Given the description of an element on the screen output the (x, y) to click on. 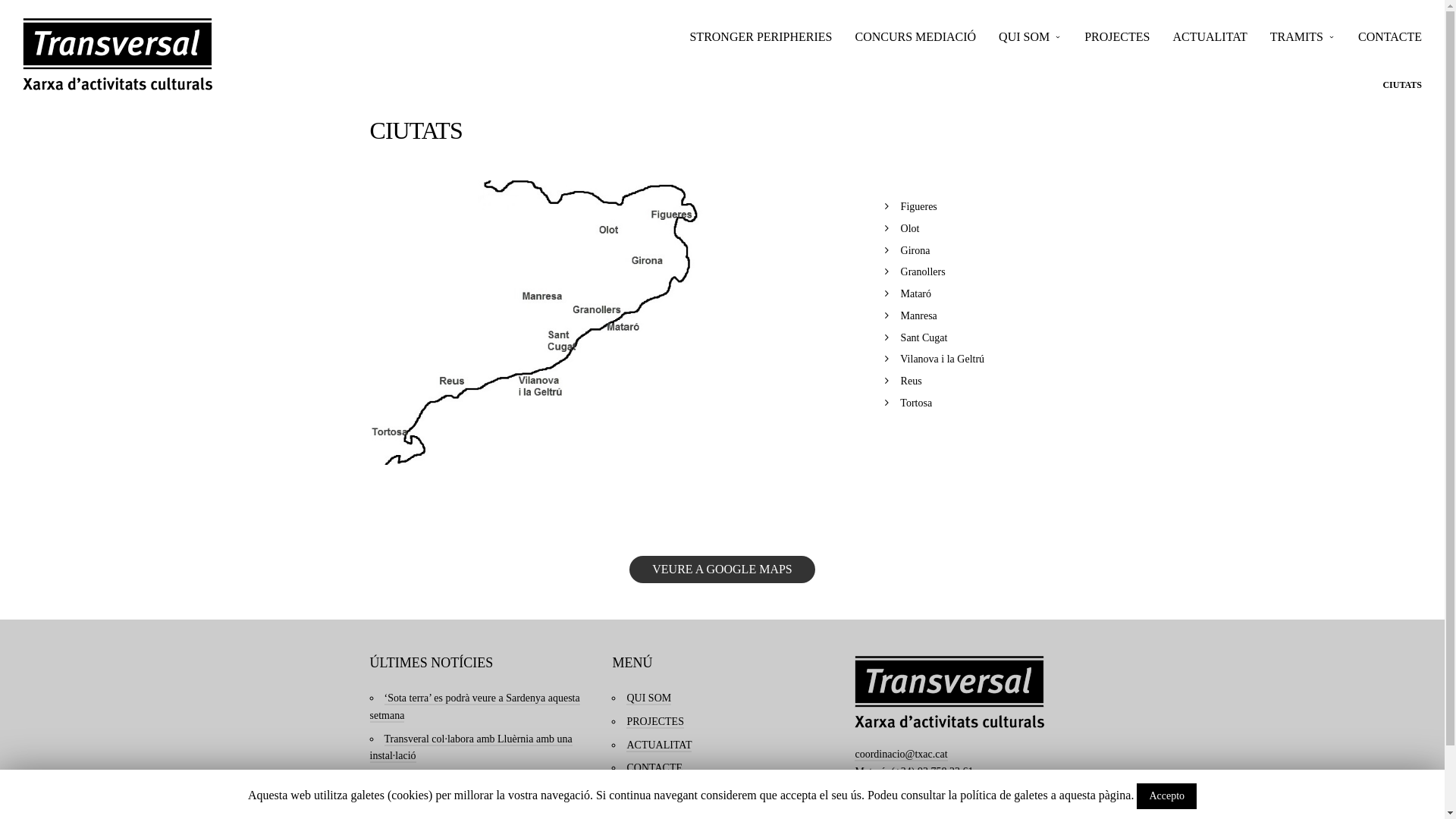
VEURE A GOOGLE MAPS Element type: text (721, 569)
Granollers Element type: text (922, 271)
Olot Element type: text (909, 228)
QUI SOM Element type: text (648, 698)
PROJECTES Element type: text (654, 721)
Visita de Transversal a Art & Gavarres Element type: text (465, 779)
CONTACTE Element type: text (654, 768)
TRAMITS Element type: text (1302, 37)
ACTUALITAT Element type: text (1209, 37)
PROJECTES Element type: text (1116, 37)
STRONGER PERIPHERIES Element type: text (760, 37)
Sant Cugat Element type: text (923, 337)
Accepto Element type: text (1166, 796)
Reus Element type: text (911, 380)
Girona Element type: text (915, 250)
ACTUALITAT Element type: text (658, 745)
CONTACTE Element type: text (1389, 37)
Tortosa Element type: text (915, 402)
coordinacio@txac.cat Element type: text (900, 754)
QUI SOM Element type: text (1029, 37)
Manresa Element type: text (918, 315)
Figueres Element type: text (918, 206)
TRANSVERSAL Element type: hover (117, 54)
